Given the description of an element on the screen output the (x, y) to click on. 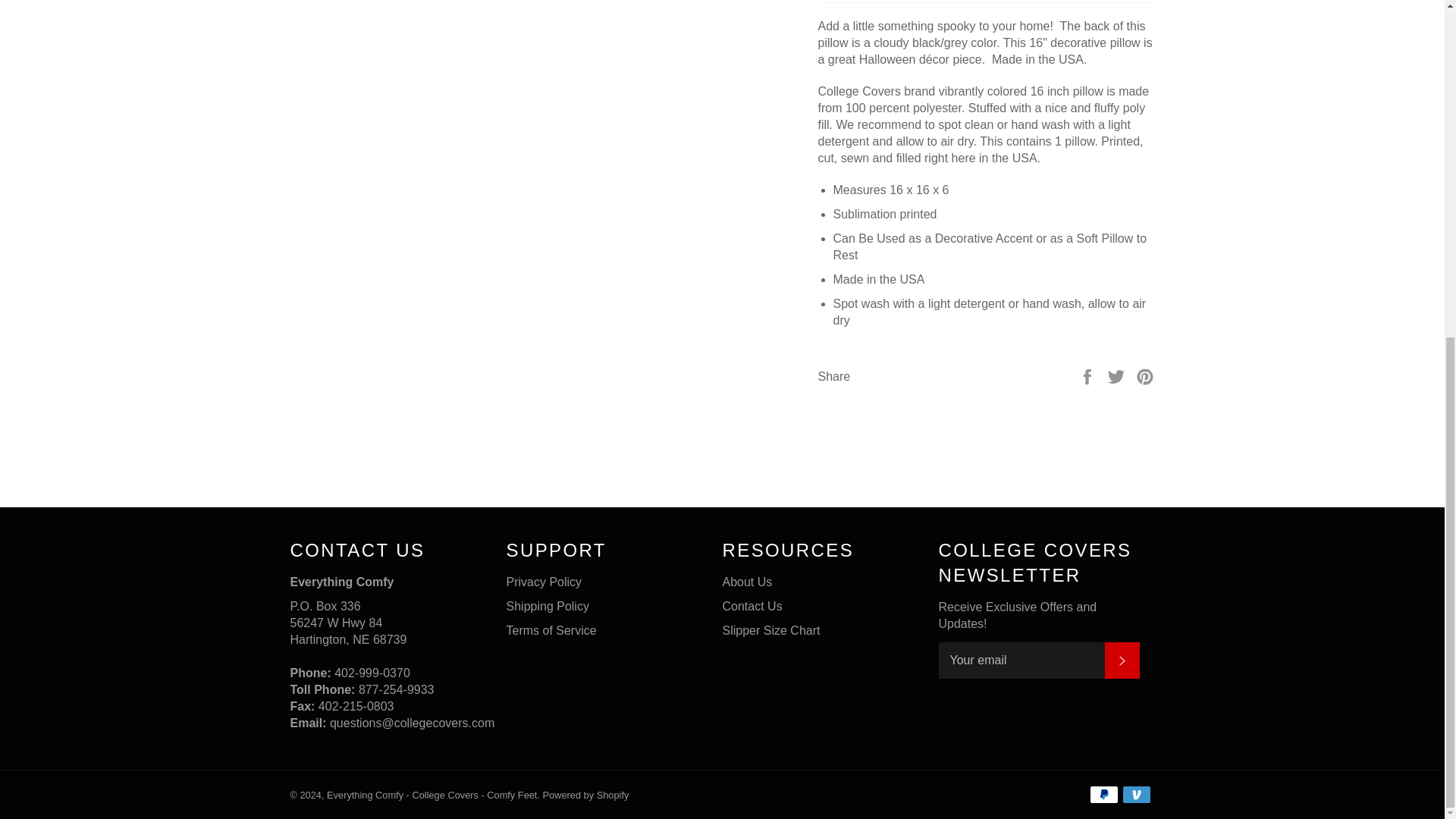
Pin on Pinterest (1144, 375)
tel:4029990370 (372, 672)
College Covers Address (347, 631)
tel:8772549933 (395, 689)
College Covers Email (412, 722)
Tweet on Twitter (1117, 375)
Share on Facebook (1088, 375)
